Given the description of an element on the screen output the (x, y) to click on. 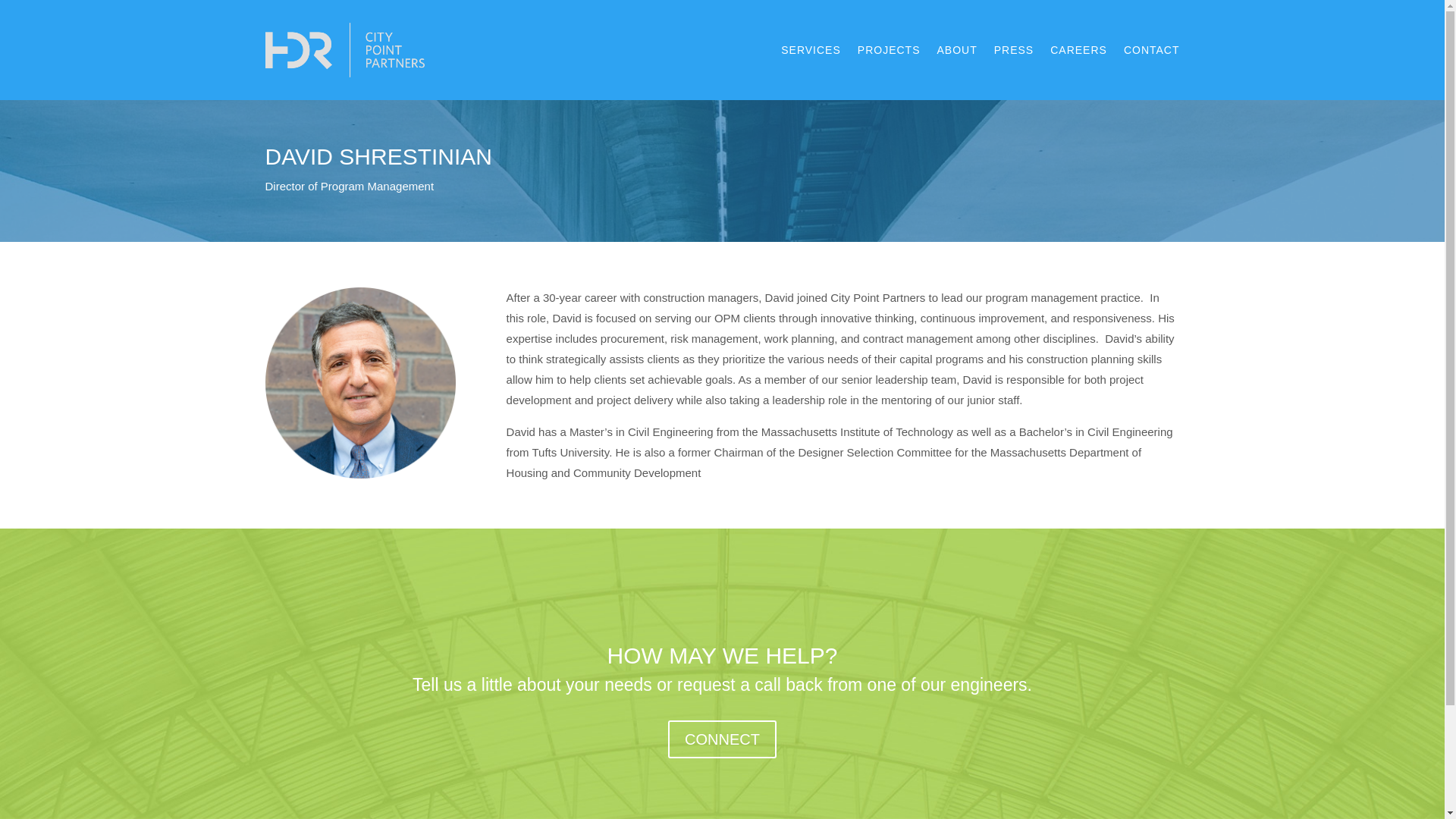
PRESS (1013, 49)
ABOUT (956, 49)
CONNECT (722, 739)
SERVICES (810, 49)
David-Shrestinian (360, 382)
CONTACT (1151, 49)
CAREERS (1077, 49)
PROJECTS (888, 49)
